Given the description of an element on the screen output the (x, y) to click on. 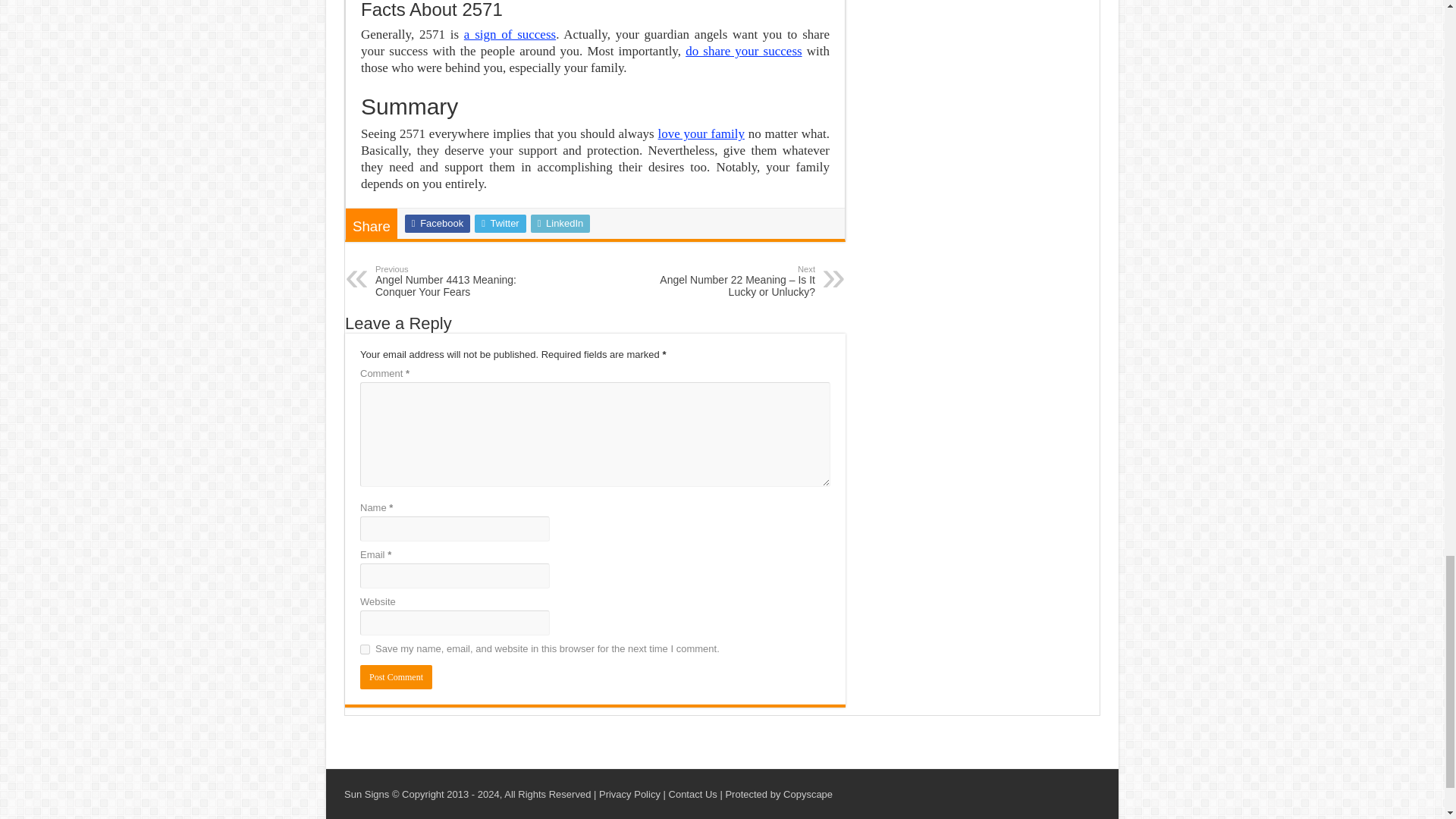
Facebook (437, 223)
Post Comment (395, 677)
LinkedIn (561, 223)
Twitter (499, 223)
yes (364, 649)
do share your success (743, 51)
love your family (701, 133)
a sign of success (510, 34)
